Given the description of an element on the screen output the (x, y) to click on. 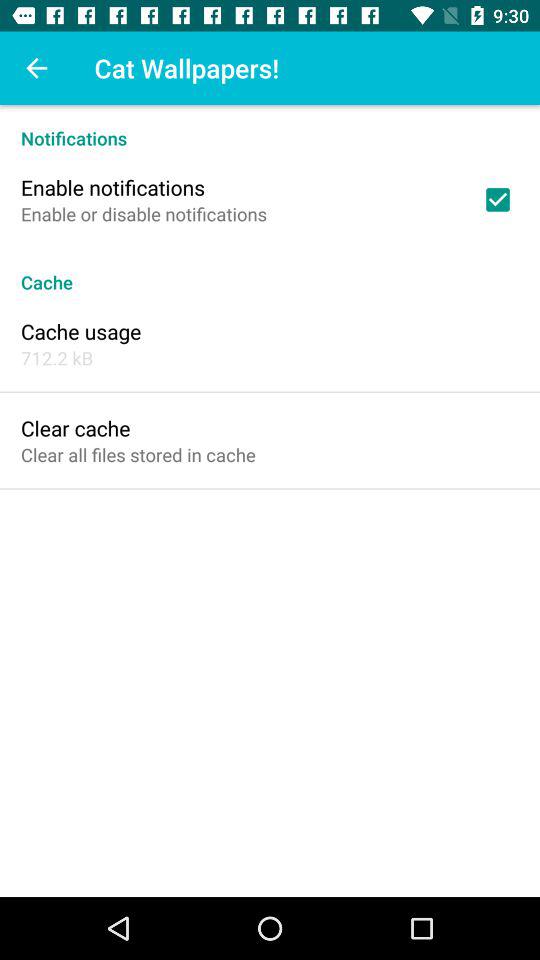
press the icon to the left of the cat wallpapers! icon (36, 68)
